Given the description of an element on the screen output the (x, y) to click on. 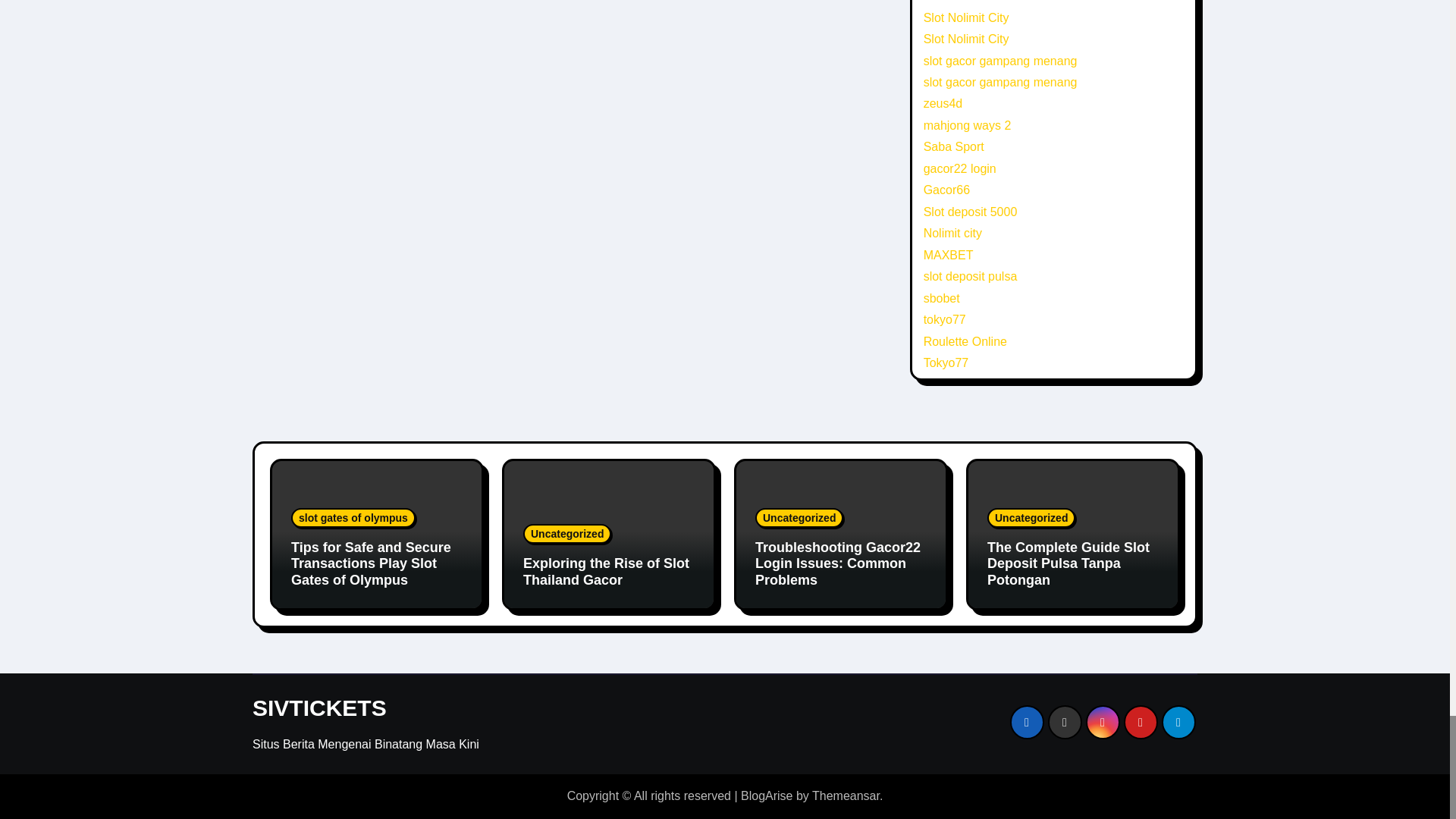
Permalink to: Exploring the Rise of Slot Thailand Gacor (605, 572)
